Given the description of an element on the screen output the (x, y) to click on. 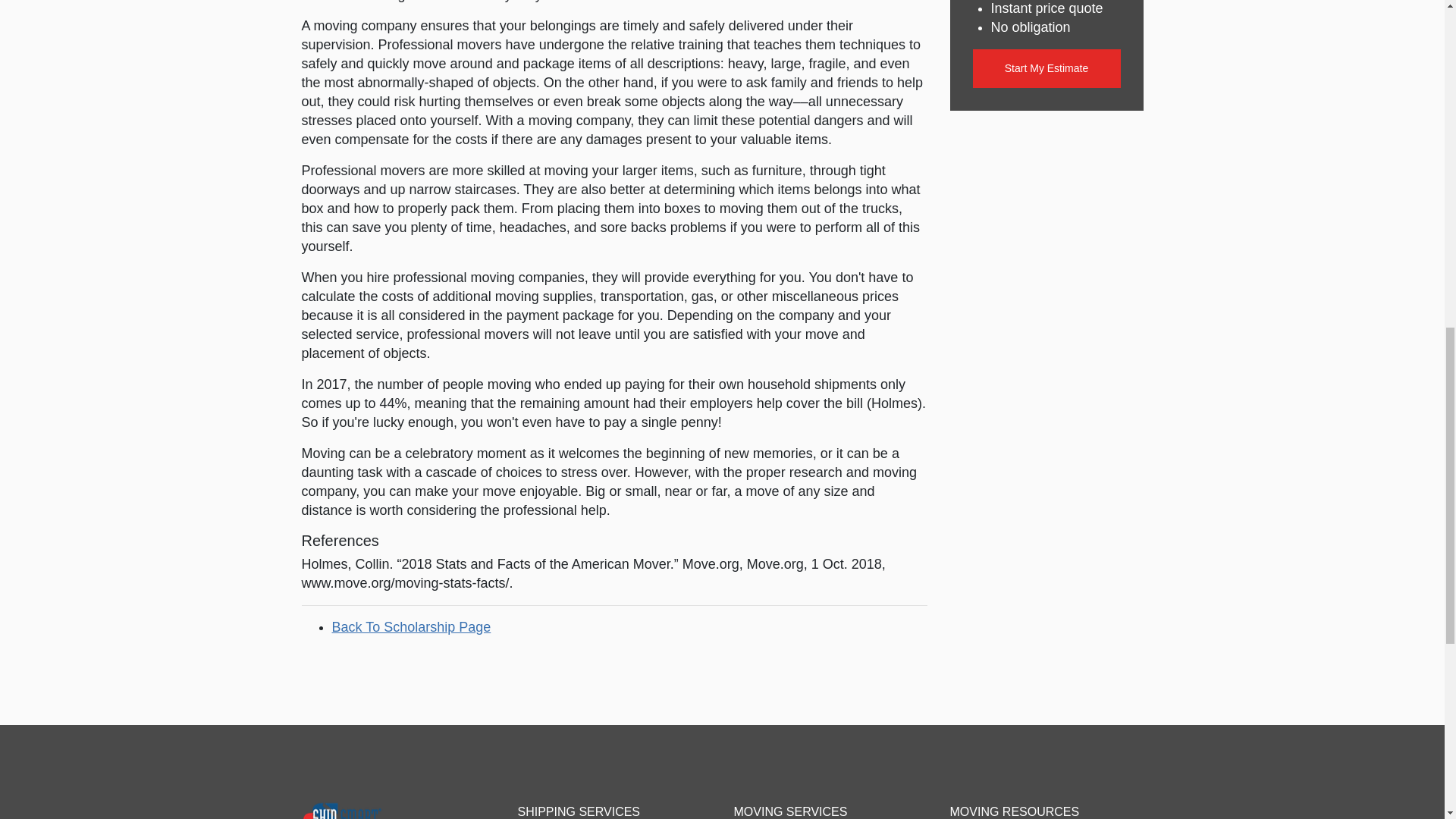
Back To Scholarship Page (411, 626)
Small Movers (372, 809)
